Given the description of an element on the screen output the (x, y) to click on. 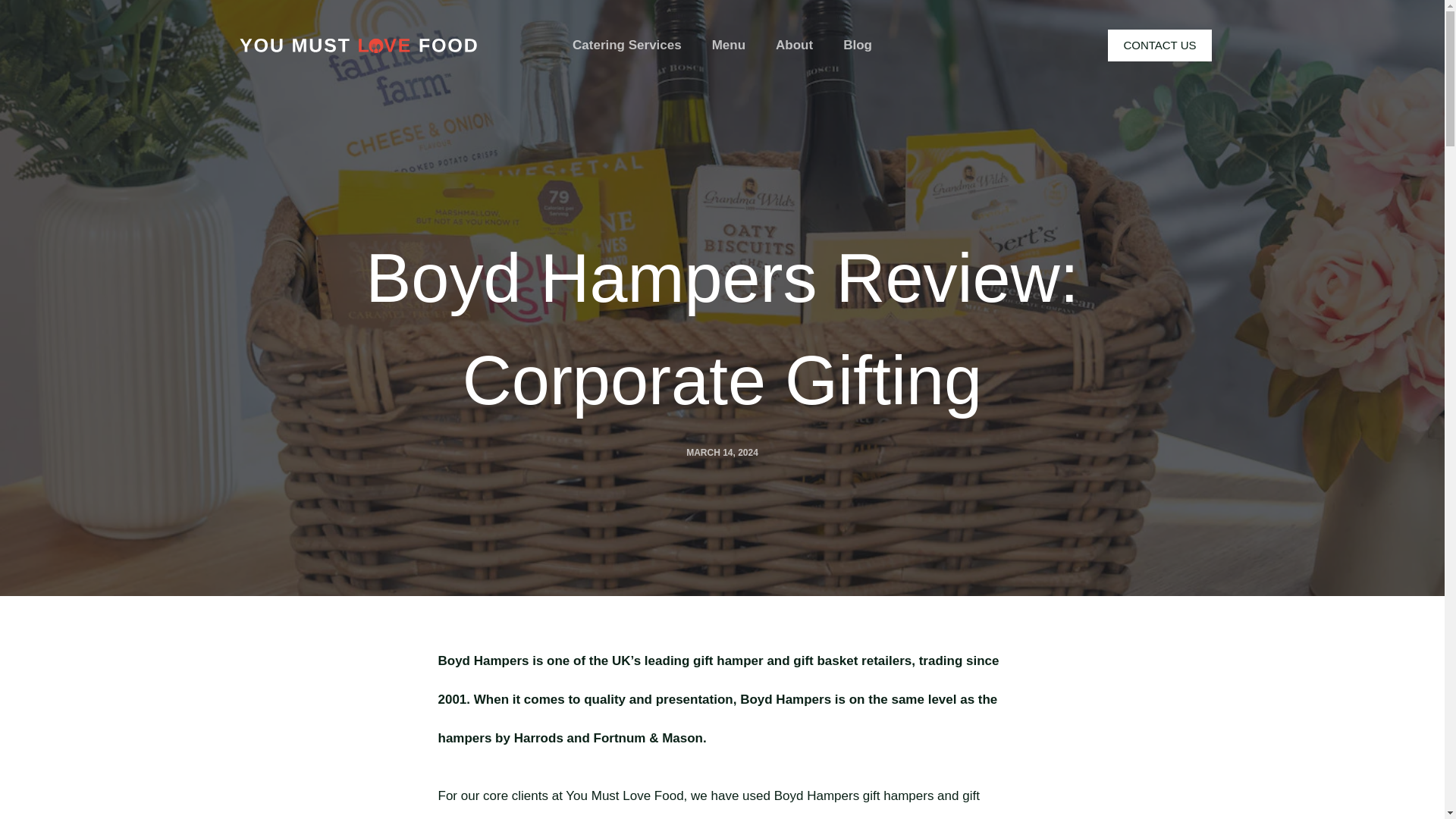
Skip to content (15, 7)
CONTACT US (1159, 45)
Catering Services (634, 45)
